Given the description of an element on the screen output the (x, y) to click on. 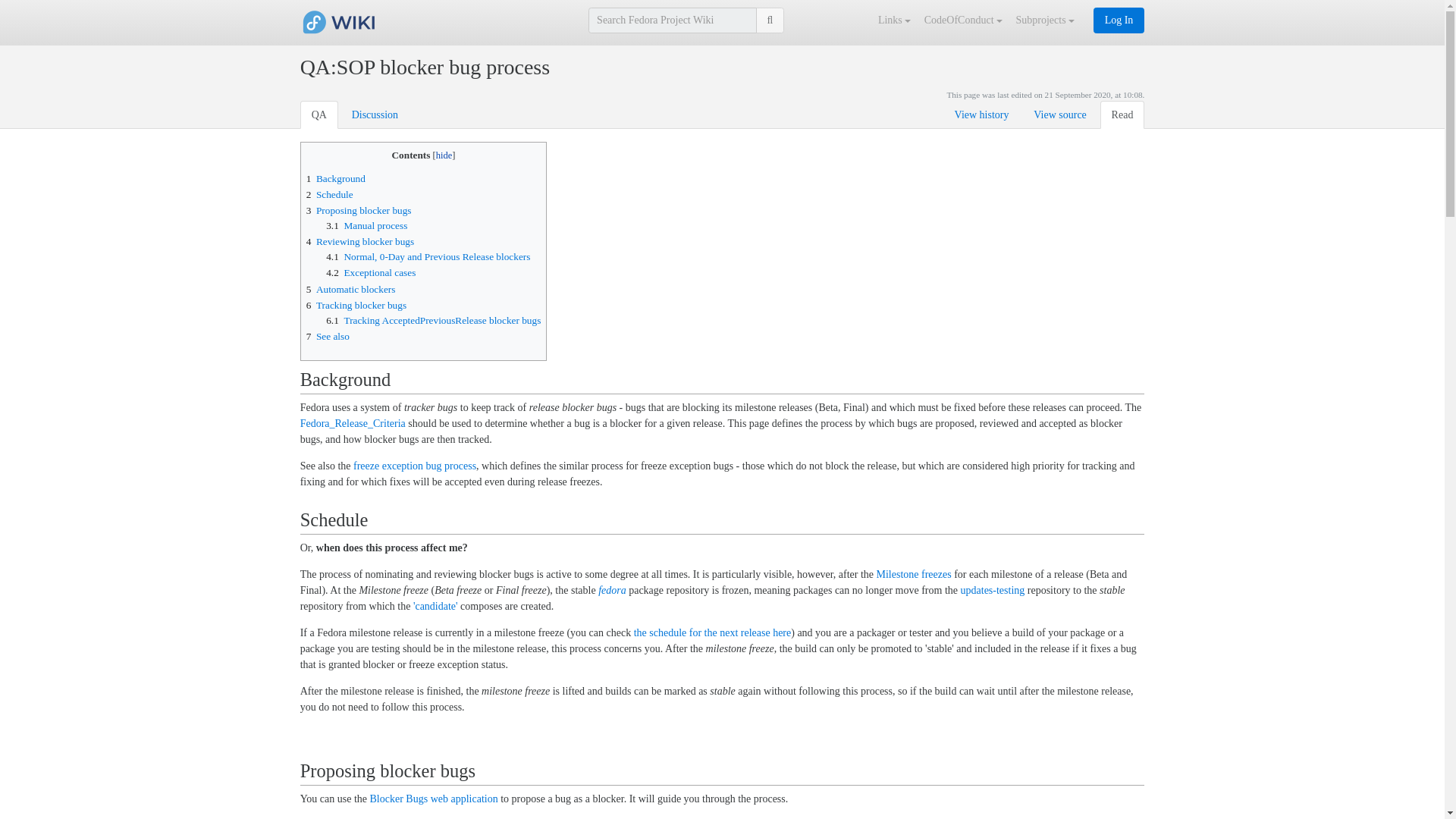
QA:SOP compose request (435, 605)
6.1 Tracking AcceptedPreviousRelease blocker bugs (433, 319)
Repositories (612, 590)
4 Reviewing blocker bugs (359, 241)
QA:SOP freeze exception bug process (414, 465)
4.2 Exceptional cases (370, 272)
2 Schedule (329, 194)
1 Background (335, 178)
Fedora Release Criteria (352, 423)
3.1 Manual process (366, 225)
